Given the description of an element on the screen output the (x, y) to click on. 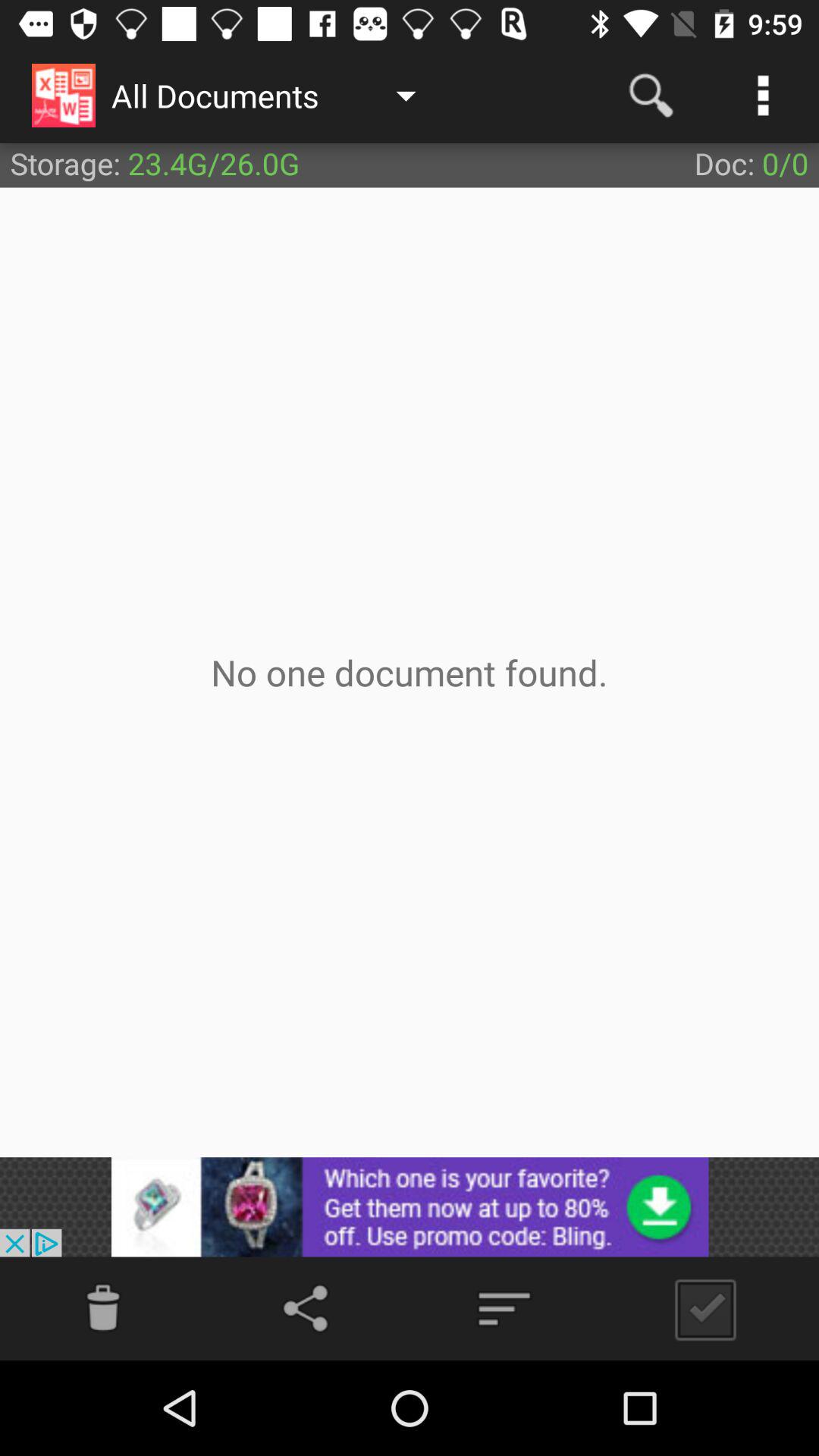
delete (102, 1308)
